Given the description of an element on the screen output the (x, y) to click on. 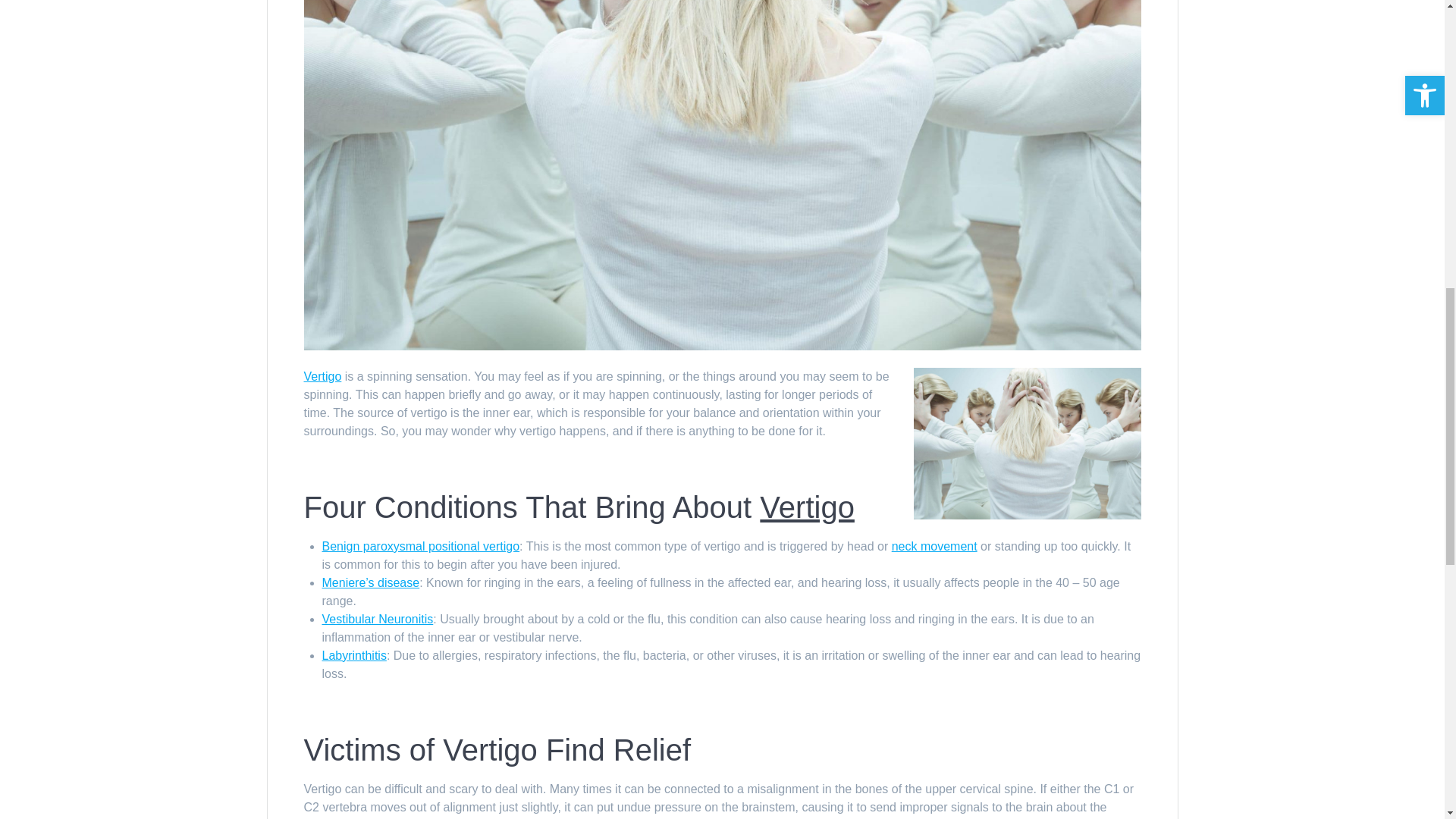
Vertigo (321, 376)
neck movement (933, 545)
4 Reasons for Vertigo and How to Find Help to Cope 2 (1026, 443)
Vertigo (807, 507)
Benign paroxysmal positional vertigo (420, 545)
